Given the description of an element on the screen output the (x, y) to click on. 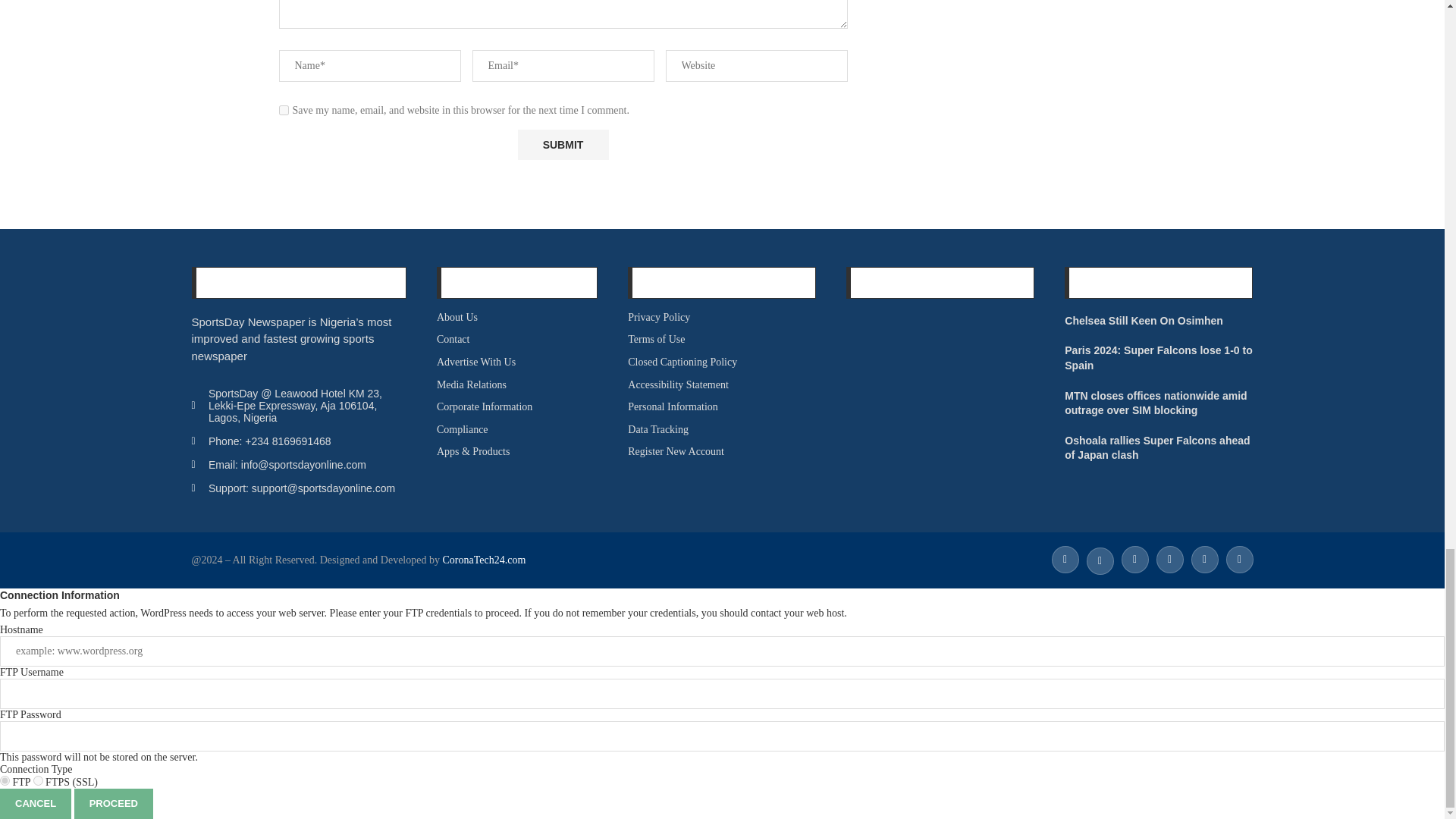
ftps (38, 780)
Submit (562, 144)
yes (283, 110)
ftp (5, 780)
